Given the description of an element on the screen output the (x, y) to click on. 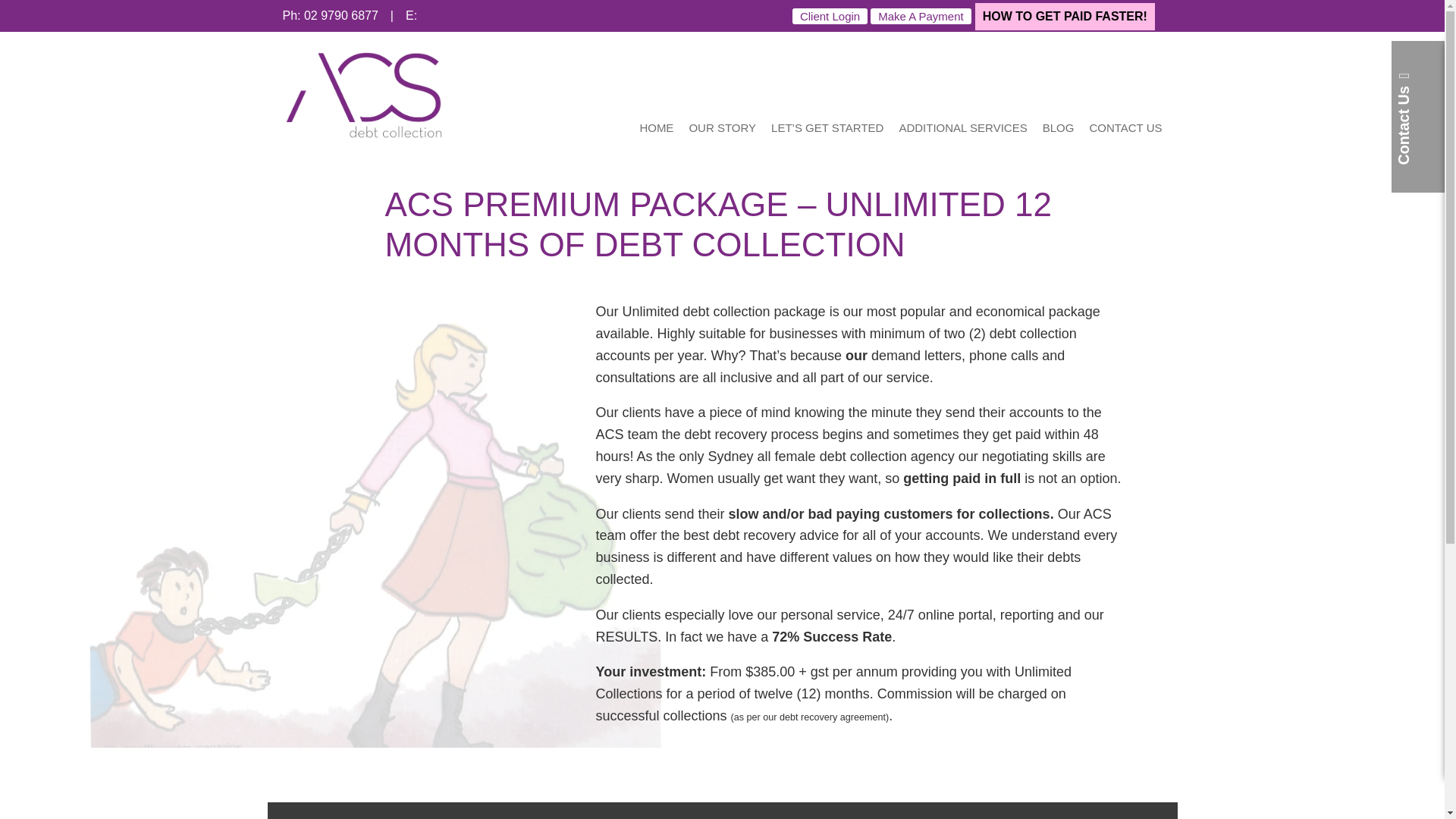
Contact us via email (554, 15)
HOME (656, 127)
Ph: 02 9790 6877 (329, 15)
Client Login (829, 16)
OUR STORY (721, 127)
ADDITIONAL SERVICES (962, 127)
CONTACT US (1122, 127)
Make A Payment (920, 16)
HOW TO GET PAID FASTER! (1064, 16)
E: (554, 15)
BLOG (1058, 127)
home (363, 137)
